Given the description of an element on the screen output the (x, y) to click on. 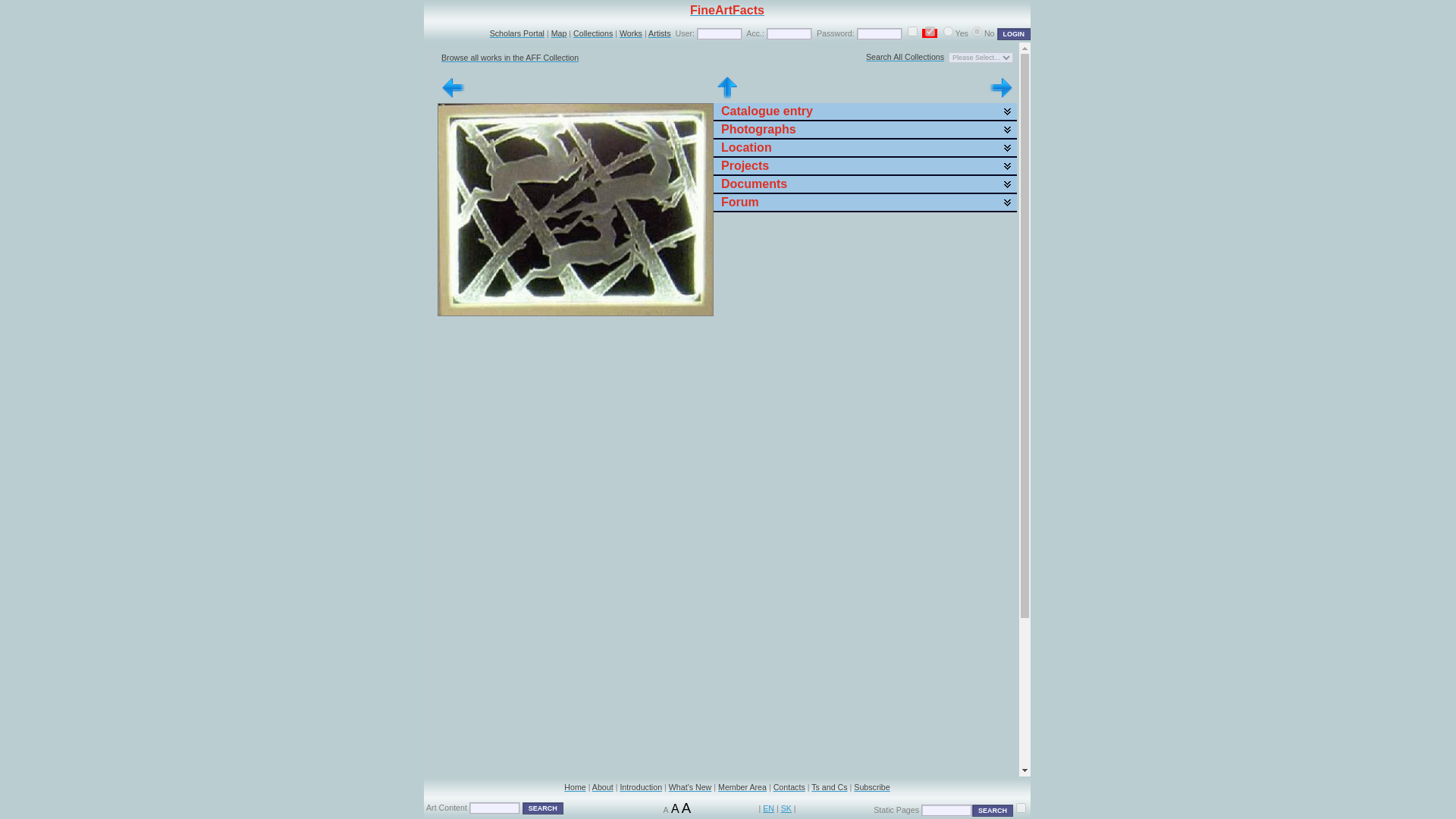
ON (948, 30)
Don't save login details (976, 30)
FineArtFacts (727, 10)
fineartfacts.com (1021, 807)
EN (768, 808)
Home (574, 786)
TRUE (912, 30)
Member Area (742, 786)
Check this box to log in via an SSL connection (929, 30)
Browse all works in the AFF Collection (509, 57)
Check this box if you only want to open a single session (912, 30)
TRUE (929, 30)
Artists (659, 32)
World map of works of art catalogued in FineArtFacts (559, 32)
Search (542, 808)
